Given the description of an element on the screen output the (x, y) to click on. 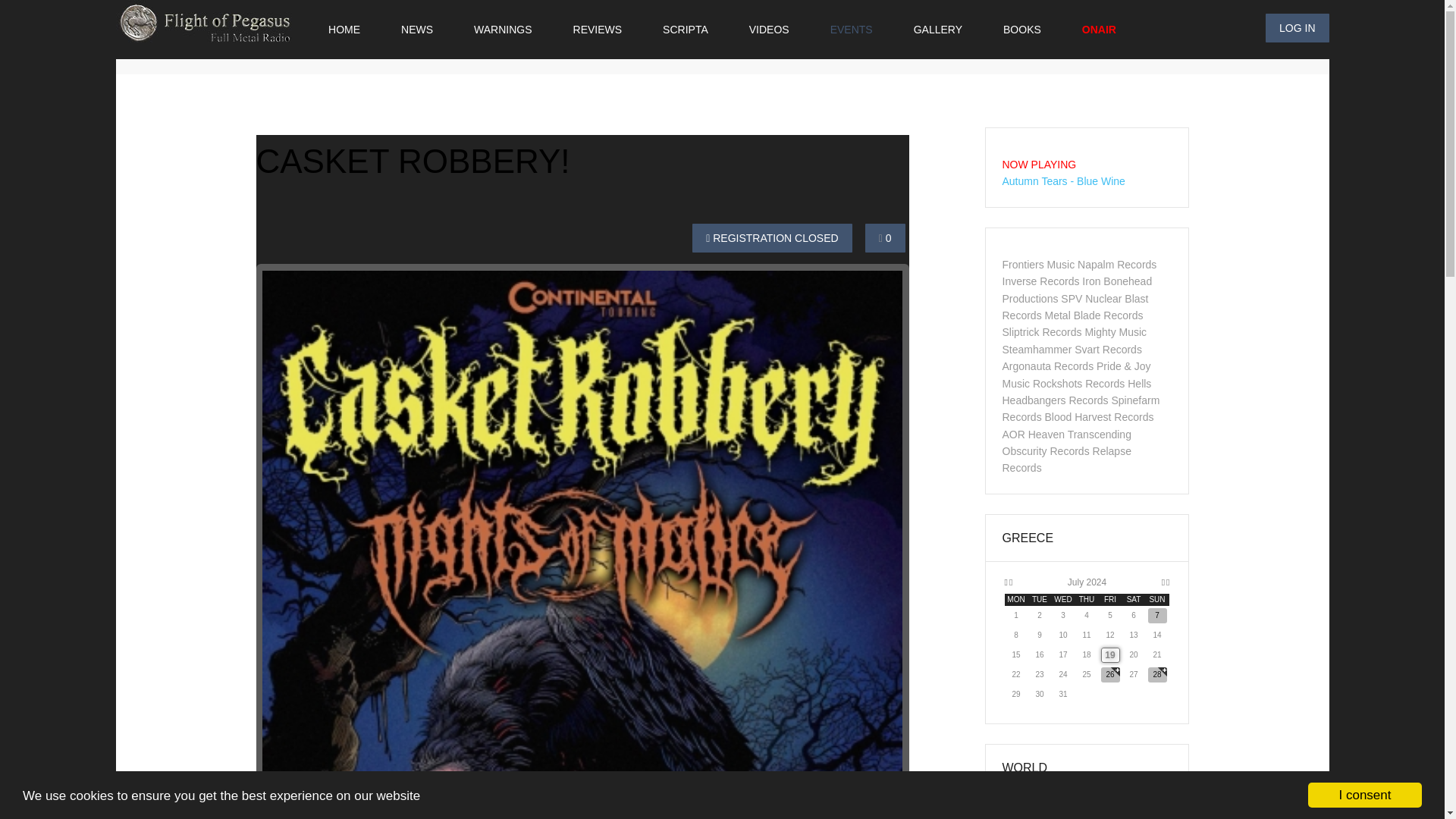
Iron Bonehead Productions (1078, 289)
Spinefarm Records (1081, 408)
Transcending Obscurity Records (1067, 442)
Previous Month (1010, 582)
Rockshots Records (1078, 383)
Argonauta Records (1048, 366)
Blood Harvest Records (1099, 417)
7 (1157, 615)
28 (1157, 674)
Frontiers Music (1039, 264)
Mighty Music (1115, 331)
Steamhammer (1037, 349)
AOR Heaven (1033, 434)
 REGISTRATION CLOSED (772, 237)
